Given the description of an element on the screen output the (x, y) to click on. 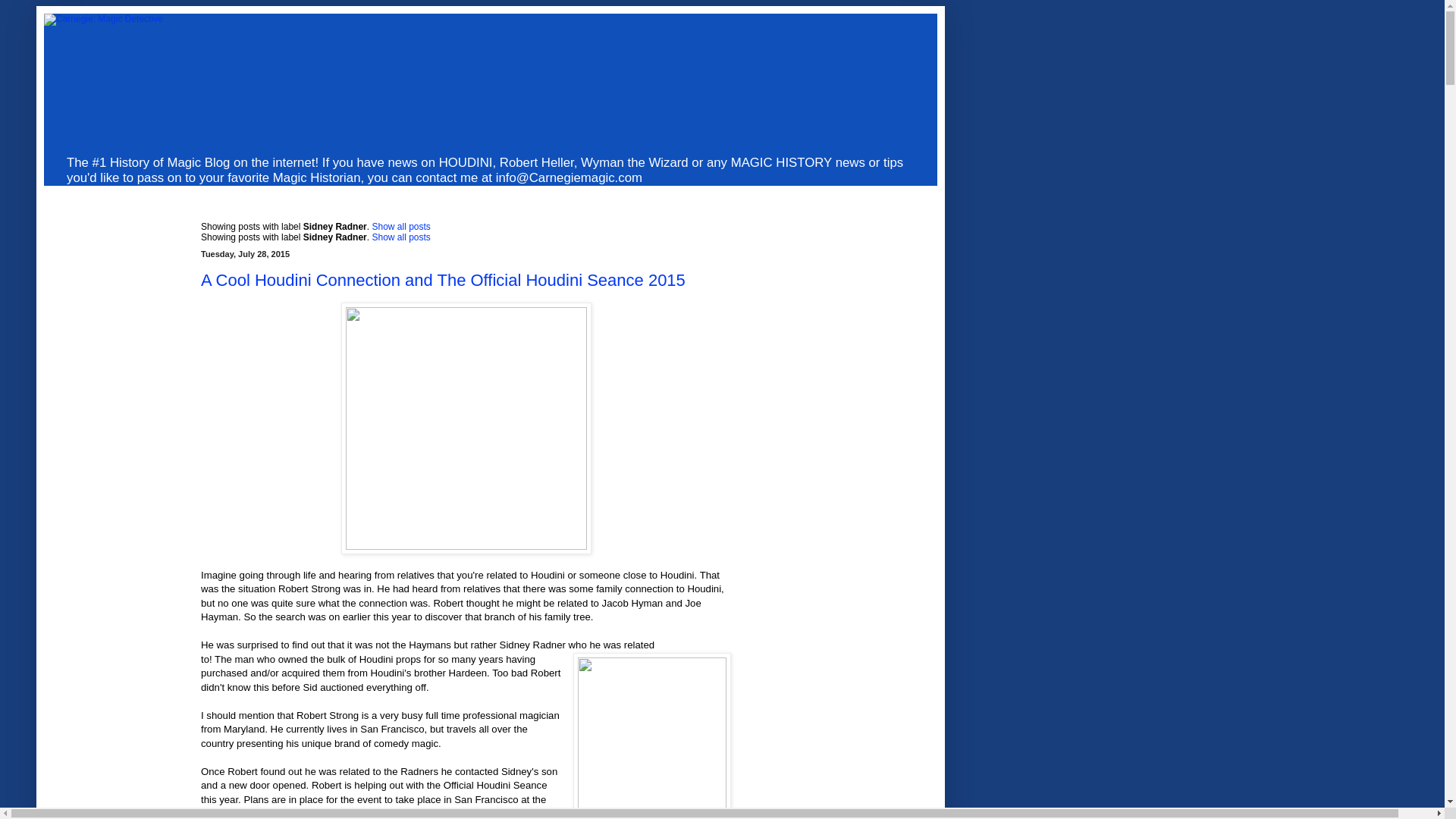
Show all posts (400, 226)
Show all posts (400, 236)
